Given the description of an element on the screen output the (x, y) to click on. 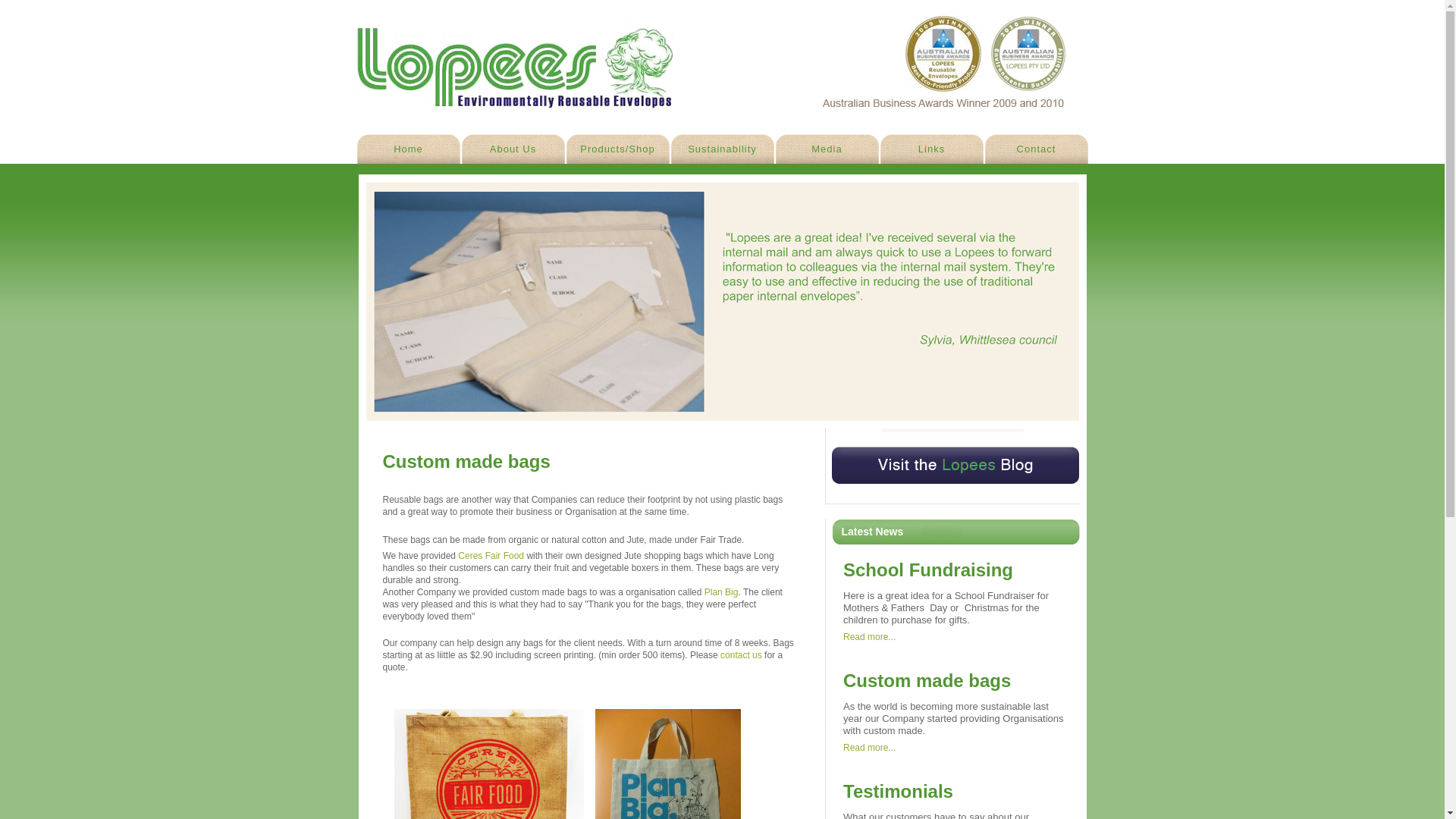
Links Element type: text (930, 149)
Media Element type: text (826, 149)
Plan Big Element type: text (721, 591)
Home Element type: text (407, 149)
contact us Element type: text (741, 654)
Products/Shop Element type: text (616, 149)
Read more... Element type: text (869, 636)
Contact Element type: text (1035, 149)
Ceres Fair Food Element type: text (491, 555)
Sustainability Element type: text (721, 149)
About Us Element type: text (512, 149)
Read more... Element type: text (869, 747)
